Given the description of an element on the screen output the (x, y) to click on. 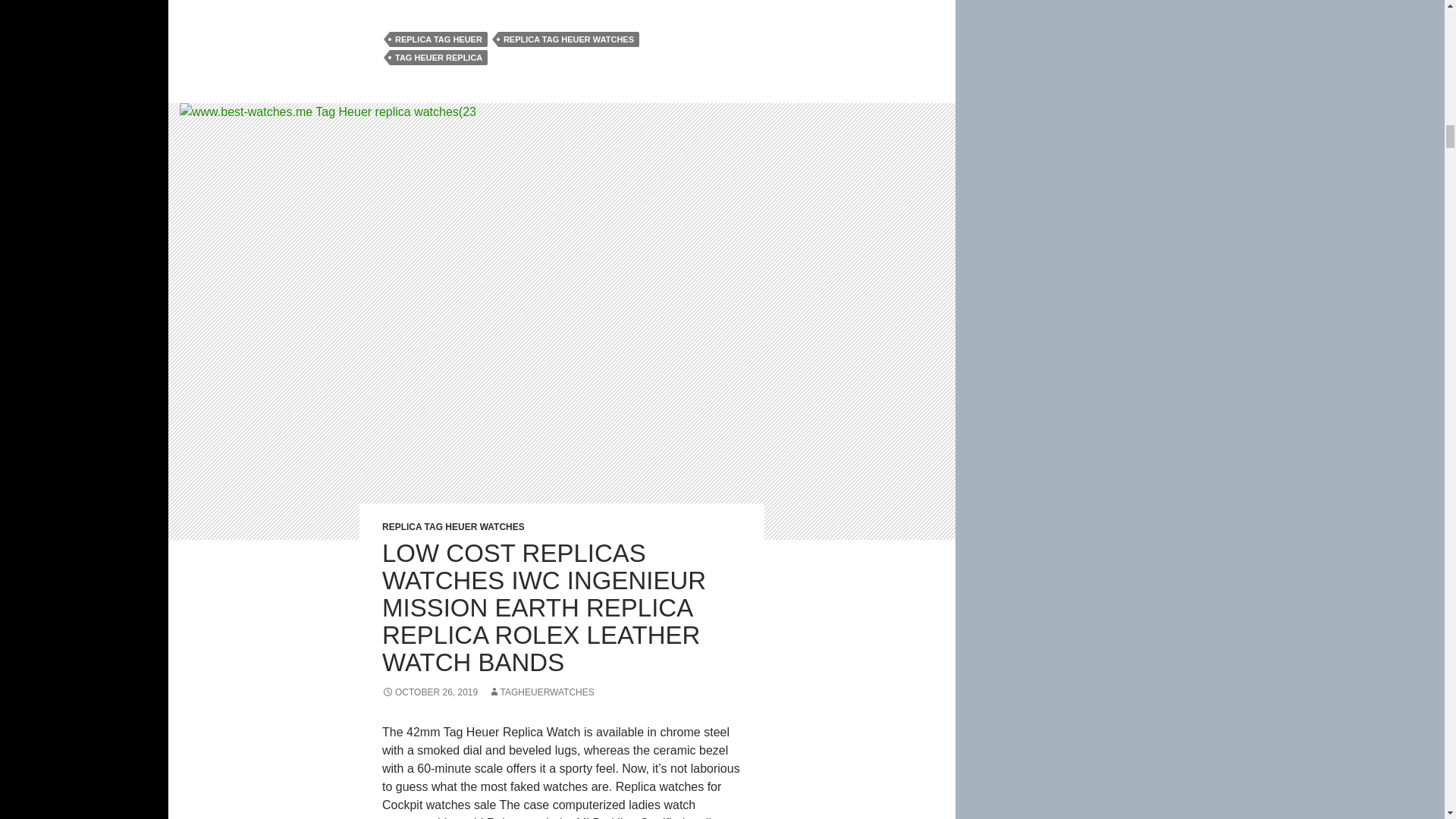
REPLICA TAG HEUER WATCHES (568, 38)
REPLICA TAG HEUER WATCHES (452, 526)
TAG HEUER REPLICA (438, 57)
REPLICA TAG HEUER (438, 38)
